Given the description of an element on the screen output the (x, y) to click on. 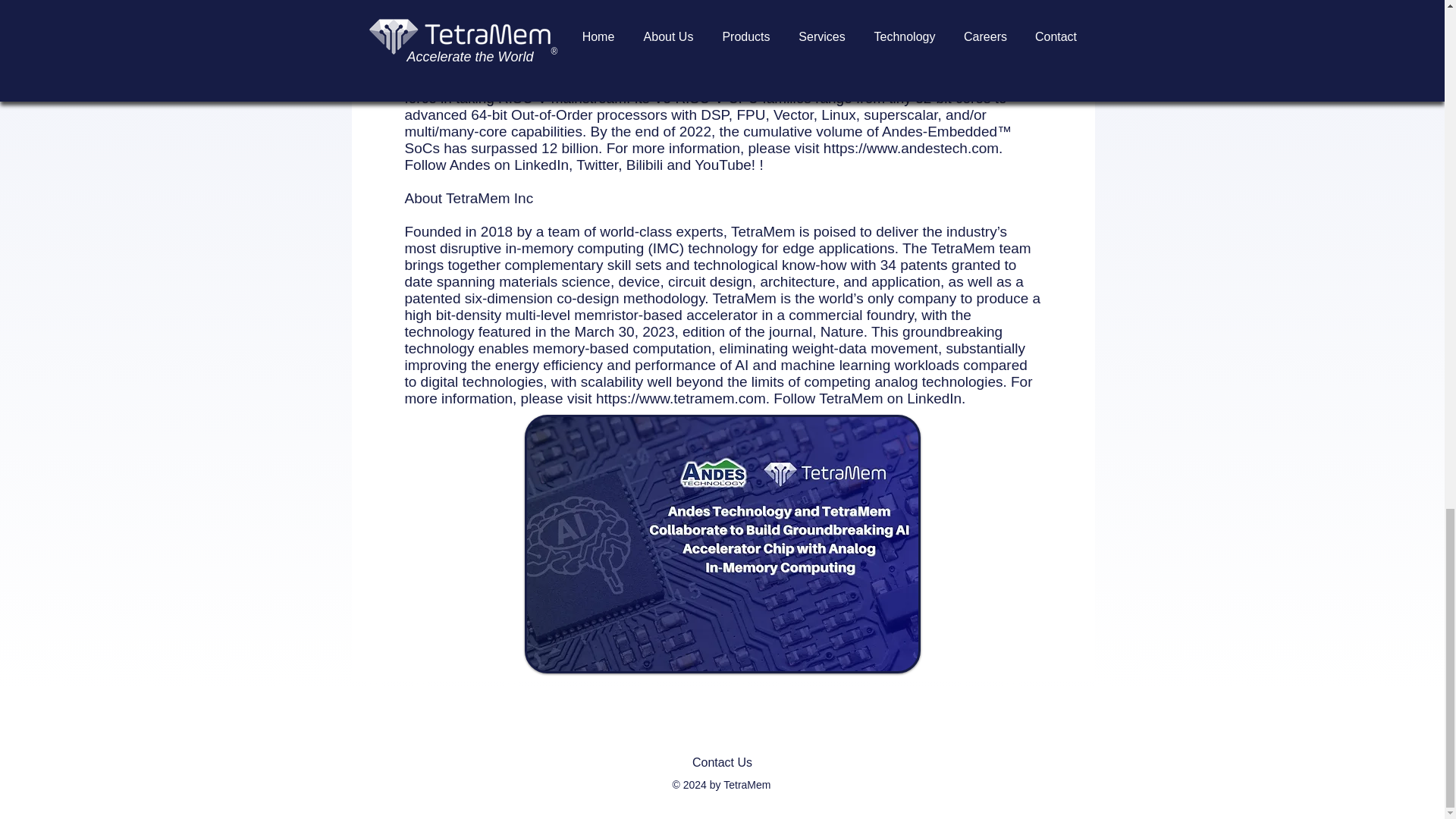
Contact Us (721, 762)
